Given the description of an element on the screen output the (x, y) to click on. 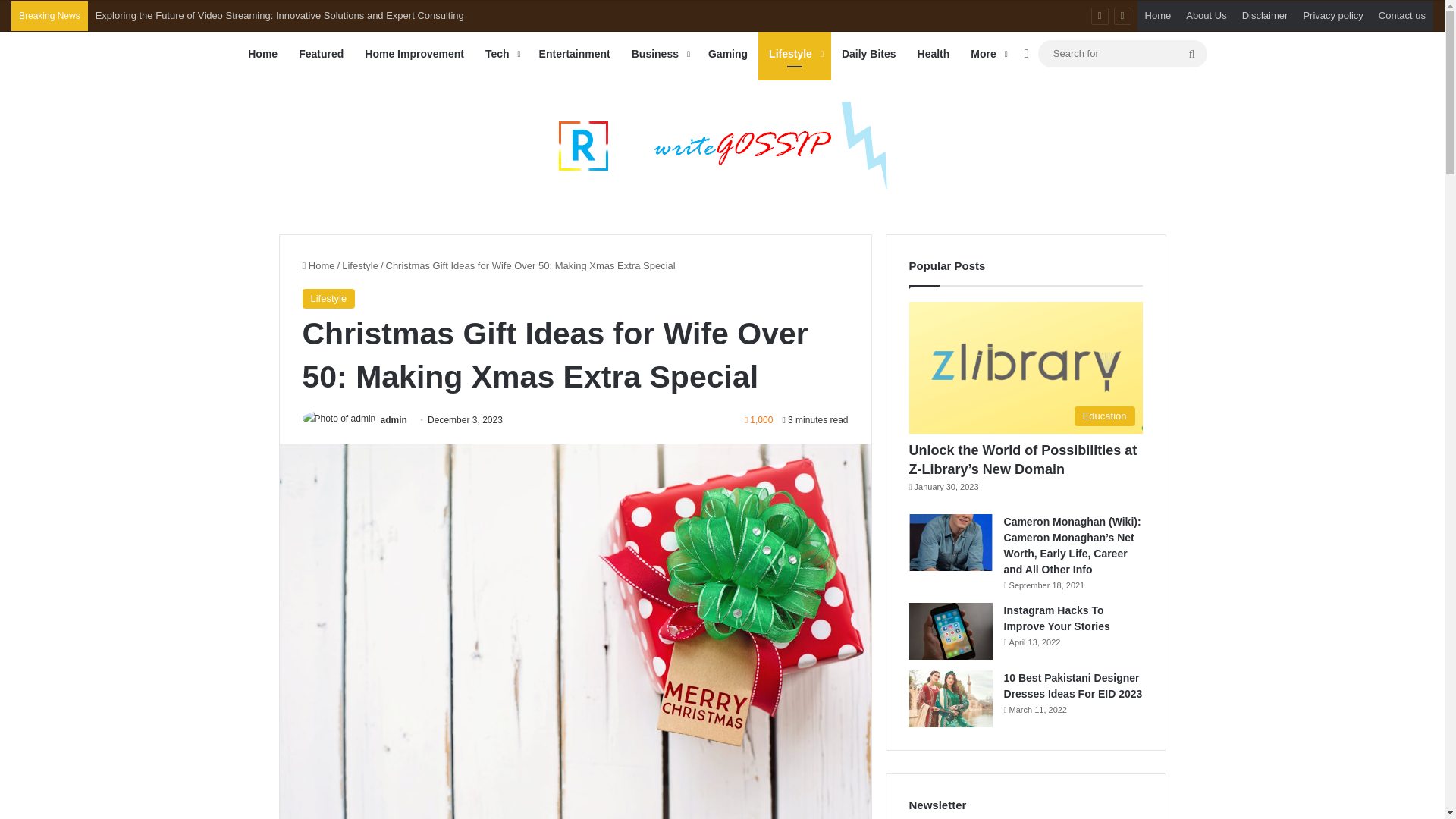
admin (393, 419)
Business (659, 53)
Lifestyle (794, 53)
Contact us (1401, 15)
Daily Bites (869, 53)
Disclaimer (1264, 15)
Featured (320, 53)
Entertainment (574, 53)
About Us (1205, 15)
